Given the description of an element on the screen output the (x, y) to click on. 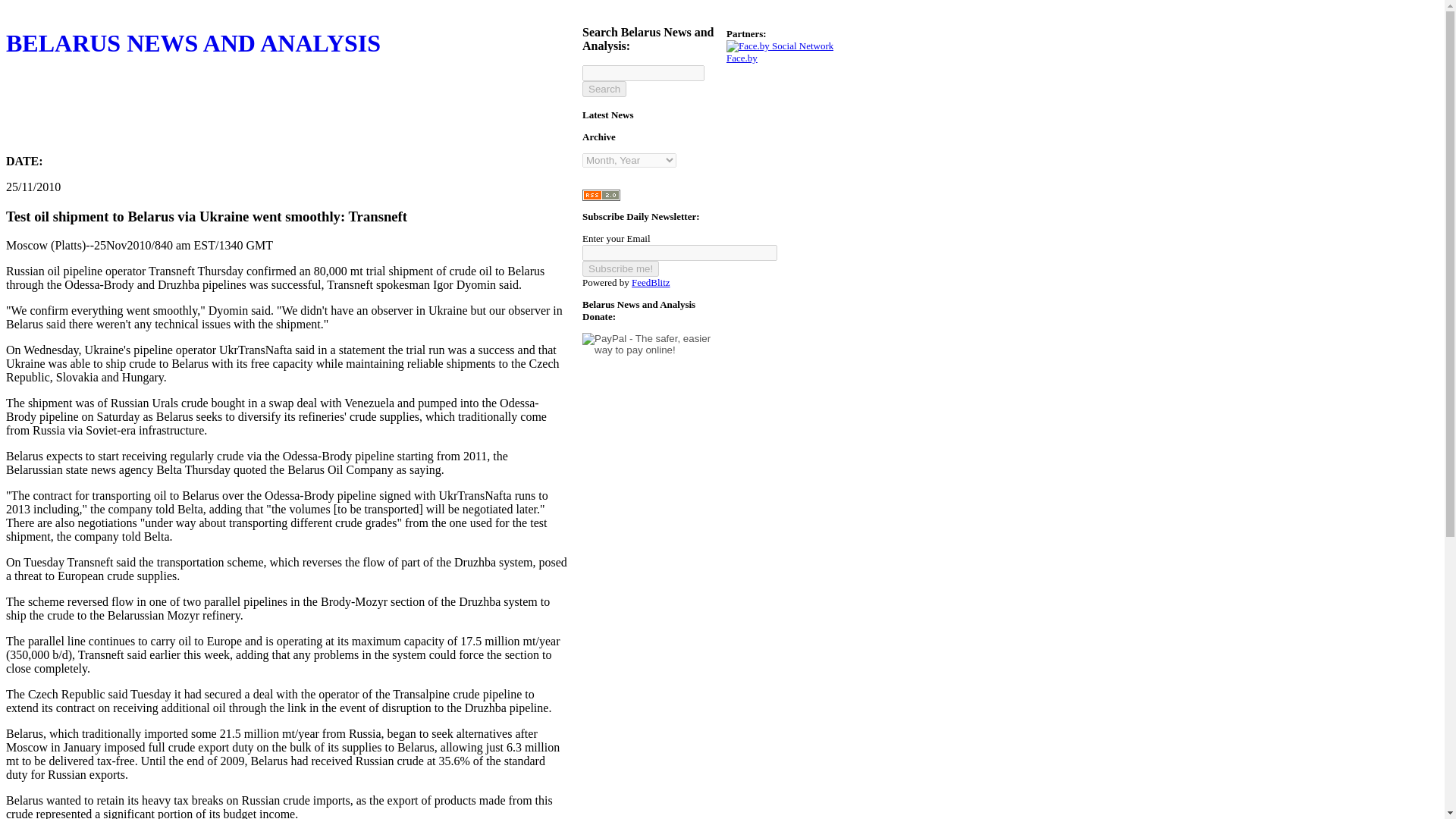
Search (604, 89)
BELARUS NEWS AND ANALYSIS (286, 86)
FeedBlitz (650, 282)
Subscribe me! (620, 268)
Subscribe me! (620, 268)
Face.by (779, 51)
Search (604, 89)
